Given the description of an element on the screen output the (x, y) to click on. 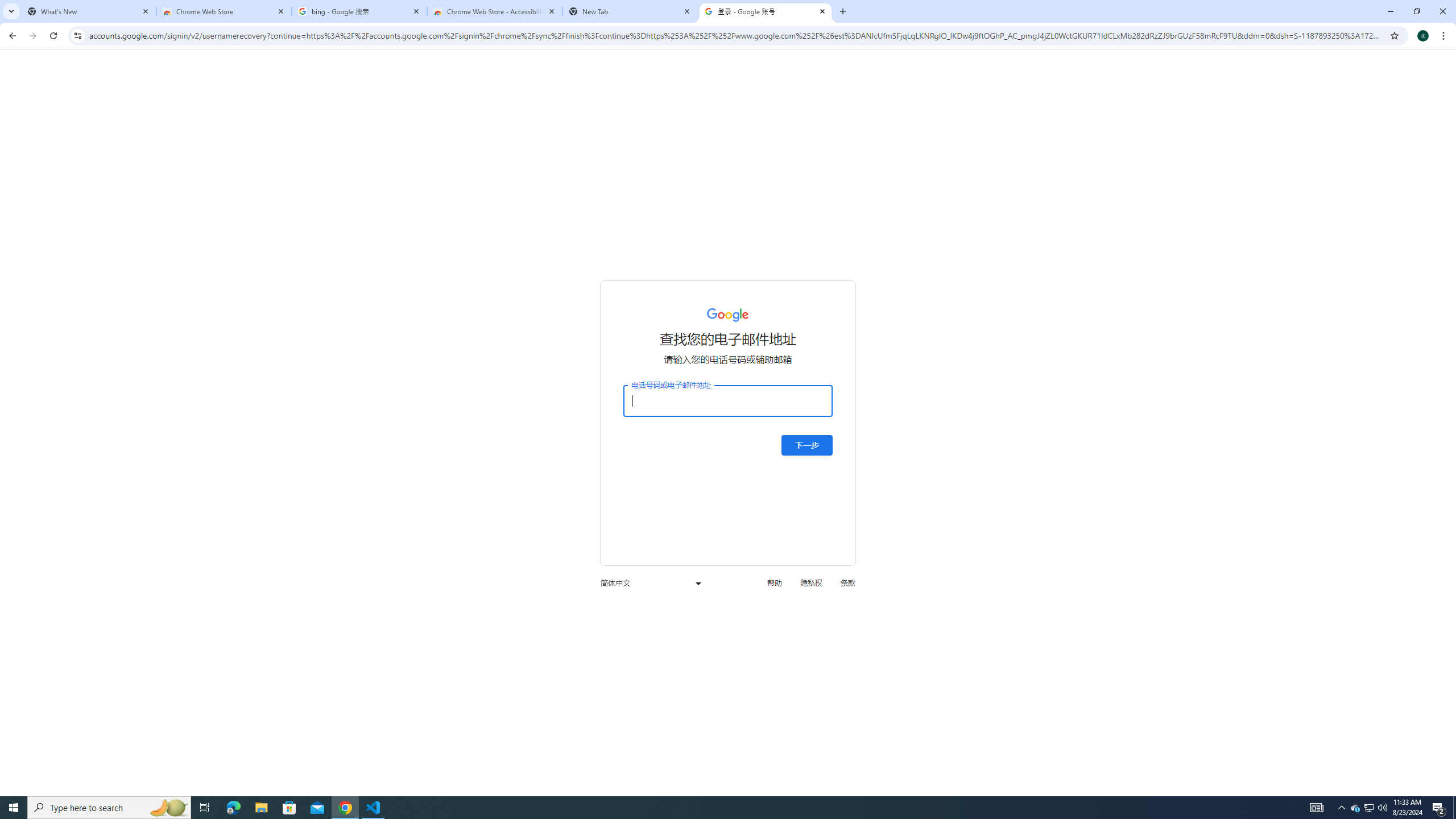
New Tab (630, 11)
